Given the description of an element on the screen output the (x, y) to click on. 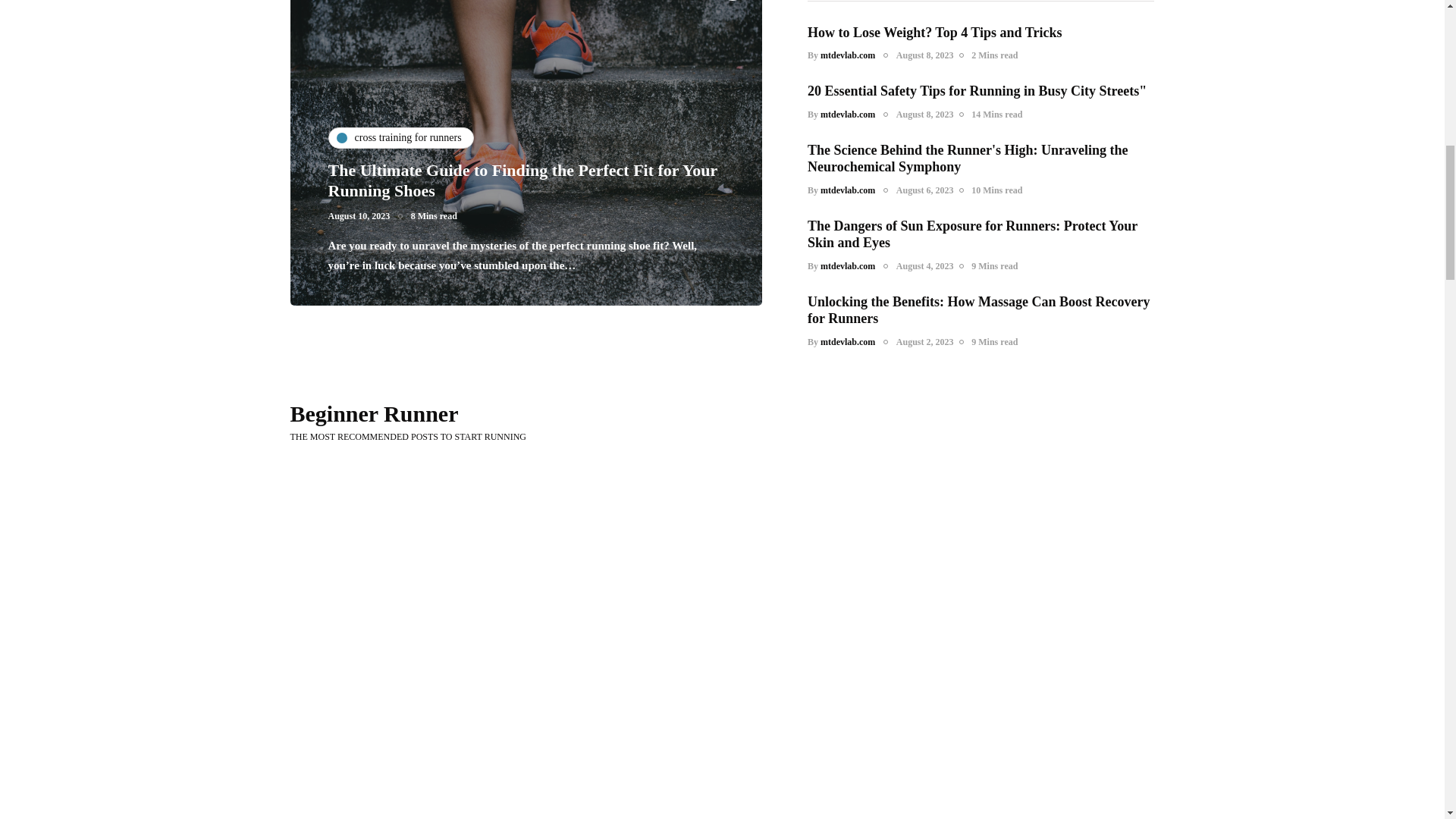
Posts by mtdevlab.com (848, 341)
Posts by mtdevlab.com (848, 266)
Posts by mtdevlab.com (848, 54)
Posts by mtdevlab.com (848, 113)
Posts by mtdevlab.com (848, 190)
